Given the description of an element on the screen output the (x, y) to click on. 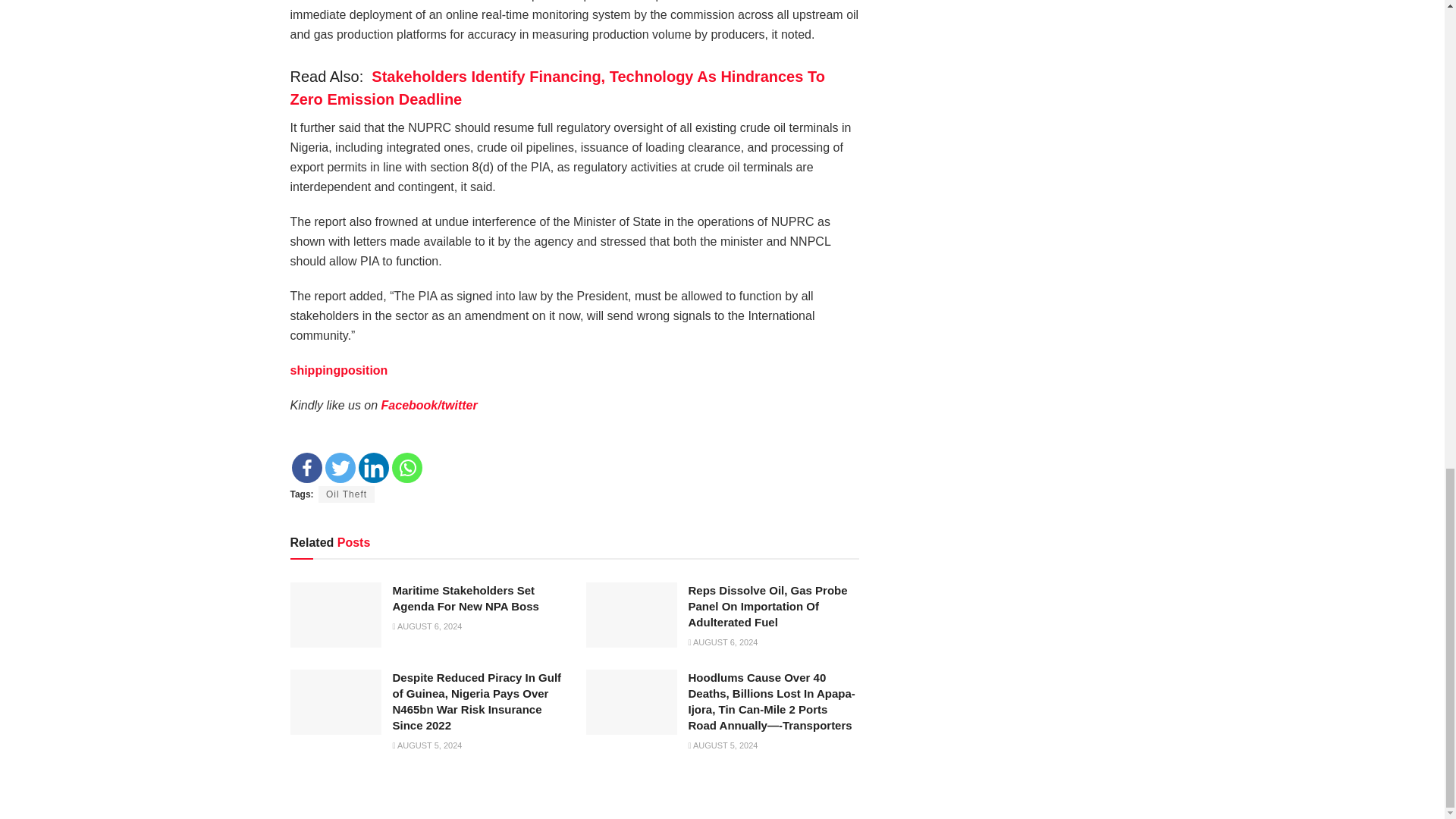
shippingposition (338, 369)
Twitter (339, 467)
Maritime Stakeholders Set Agenda For New NPA Boss (465, 597)
Whatsapp (406, 467)
Linkedin (373, 467)
AUGUST 6, 2024 (428, 625)
AUGUST 6, 2024 (723, 642)
Facebook (306, 467)
